Given the description of an element on the screen output the (x, y) to click on. 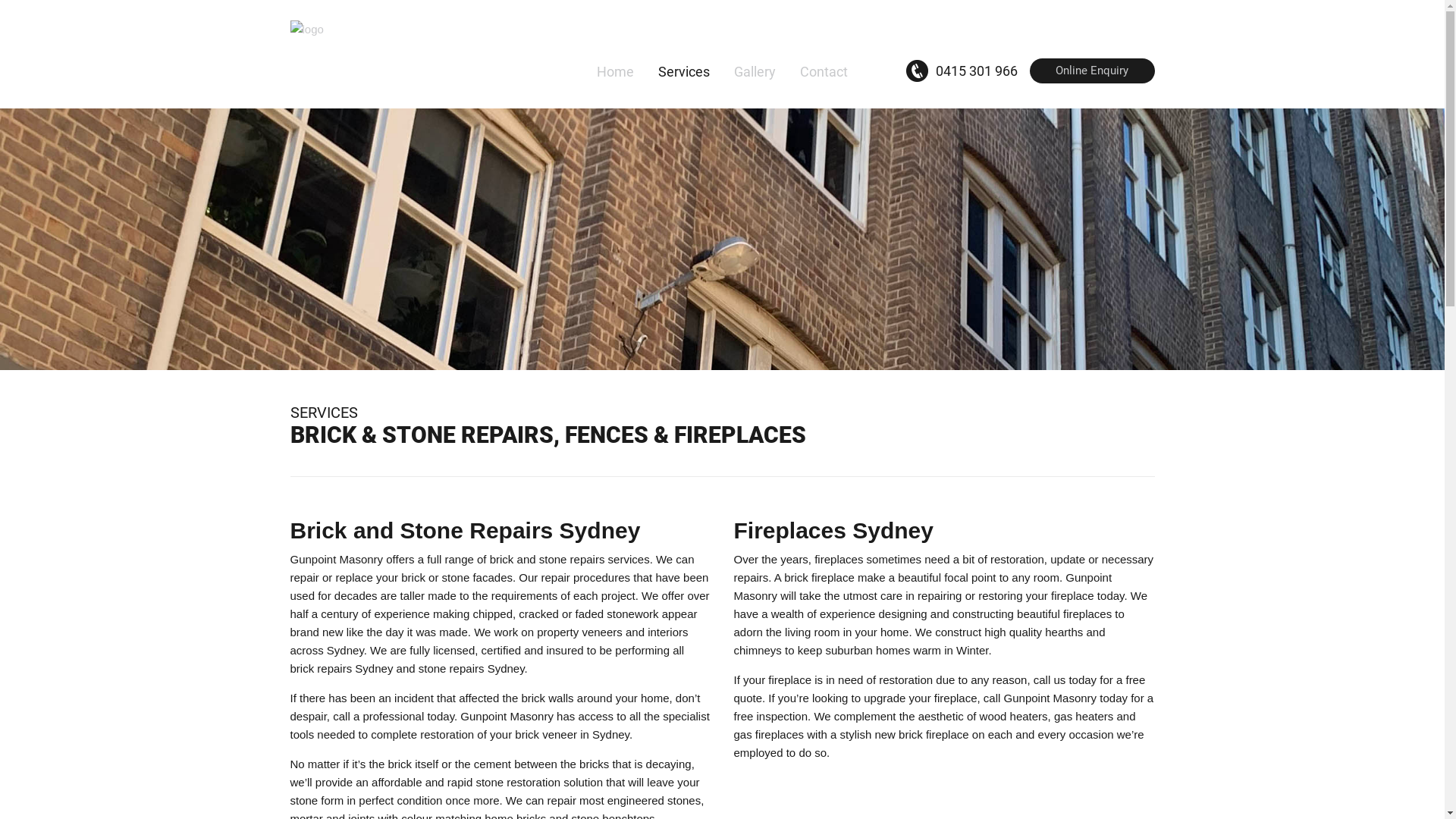
Services Element type: text (683, 72)
Contact Element type: text (823, 72)
Online Enquiry Element type: text (1091, 70)
Home Element type: text (615, 72)
Gallery Element type: text (754, 72)
0415 301 966 Element type: text (961, 70)
